Given the description of an element on the screen output the (x, y) to click on. 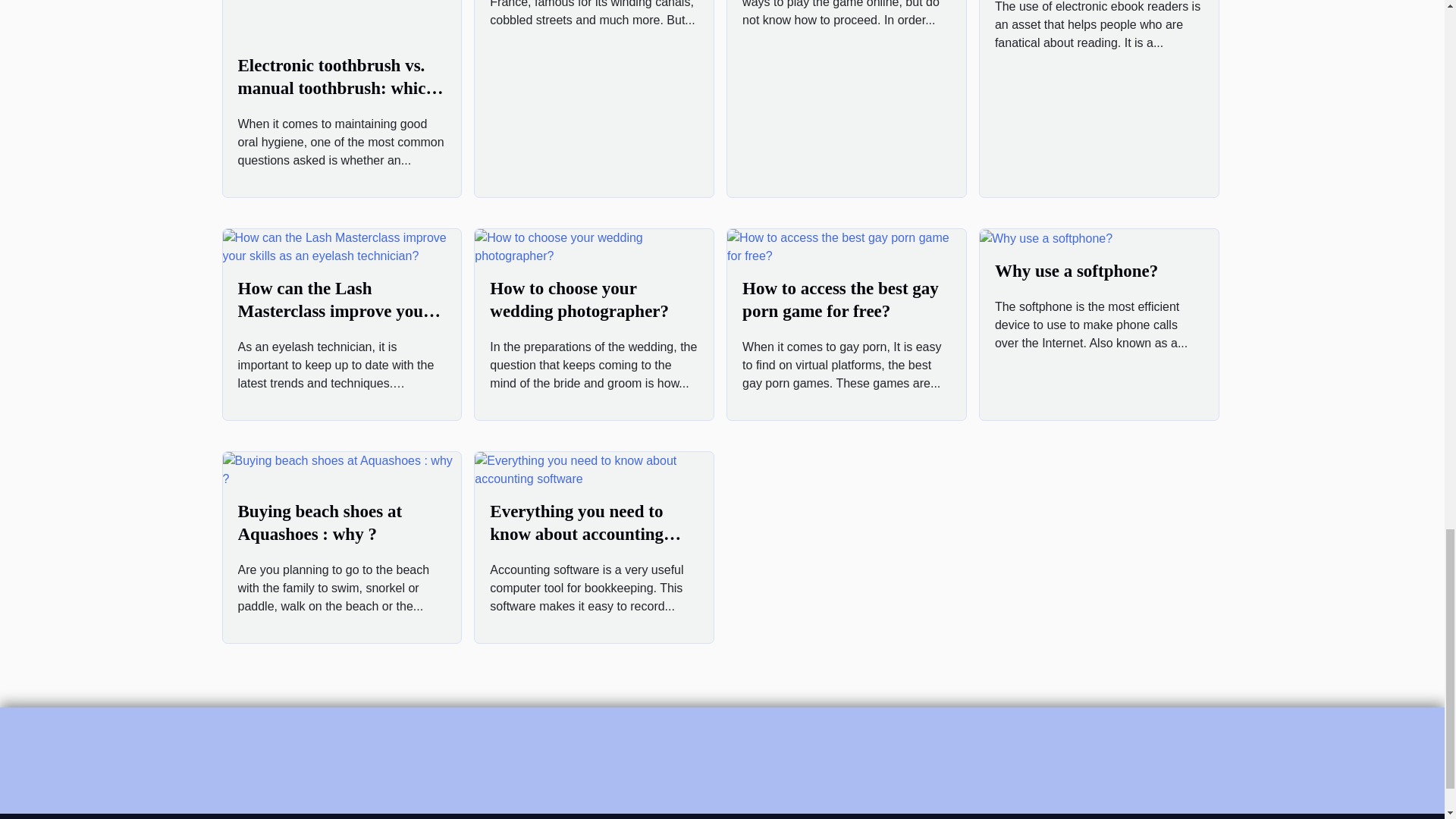
How to choose your wedding photographer? (578, 300)
How to access the best gay porn game for free? (840, 300)
Why use a softphone? (1075, 270)
